Given the description of an element on the screen output the (x, y) to click on. 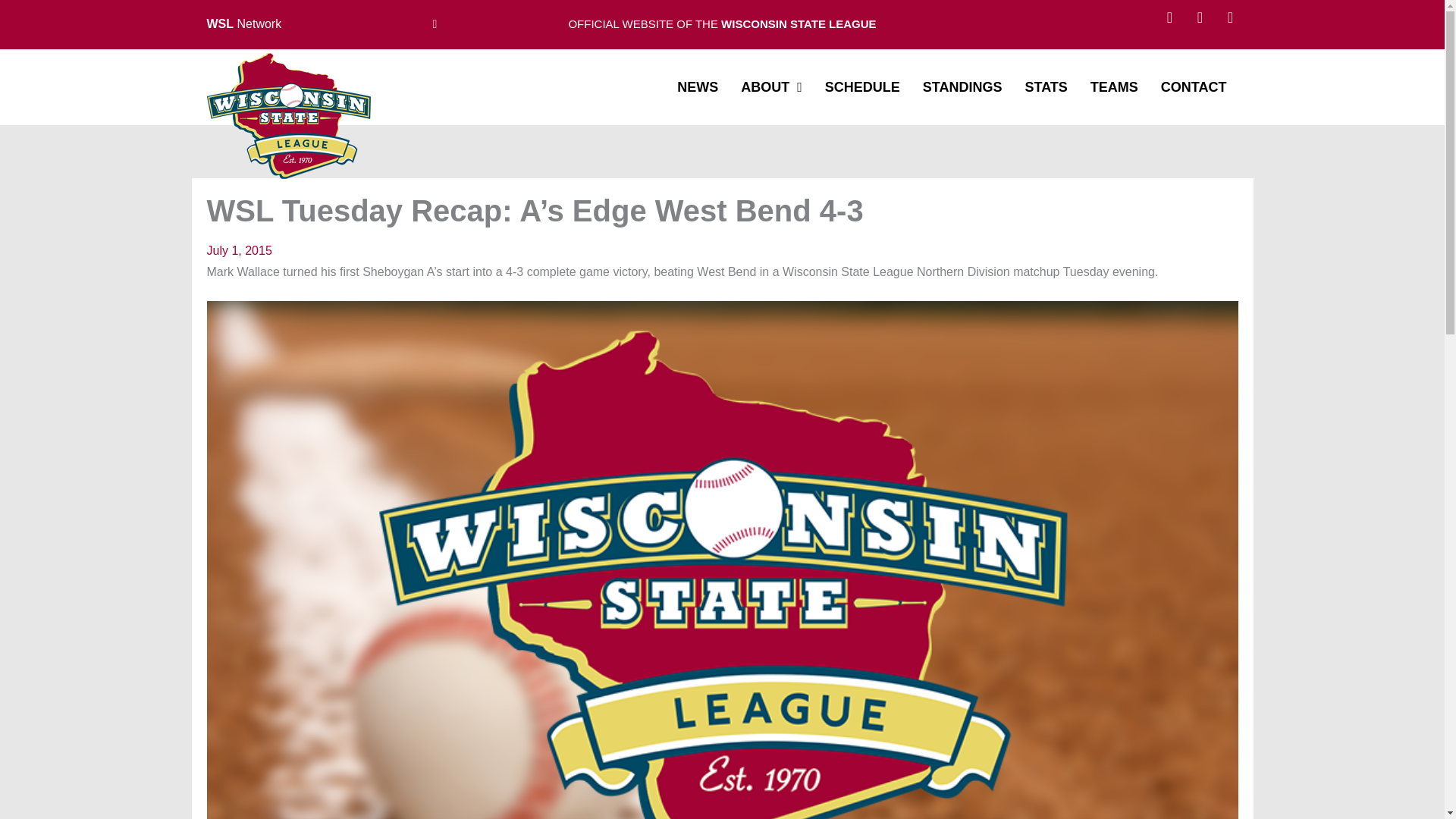
STANDINGS (962, 87)
ABOUT (771, 87)
SCHEDULE (861, 87)
Wisconsin State Leauge (287, 116)
CONTACT (1193, 87)
TEAMS (1114, 87)
